Given the description of an element on the screen output the (x, y) to click on. 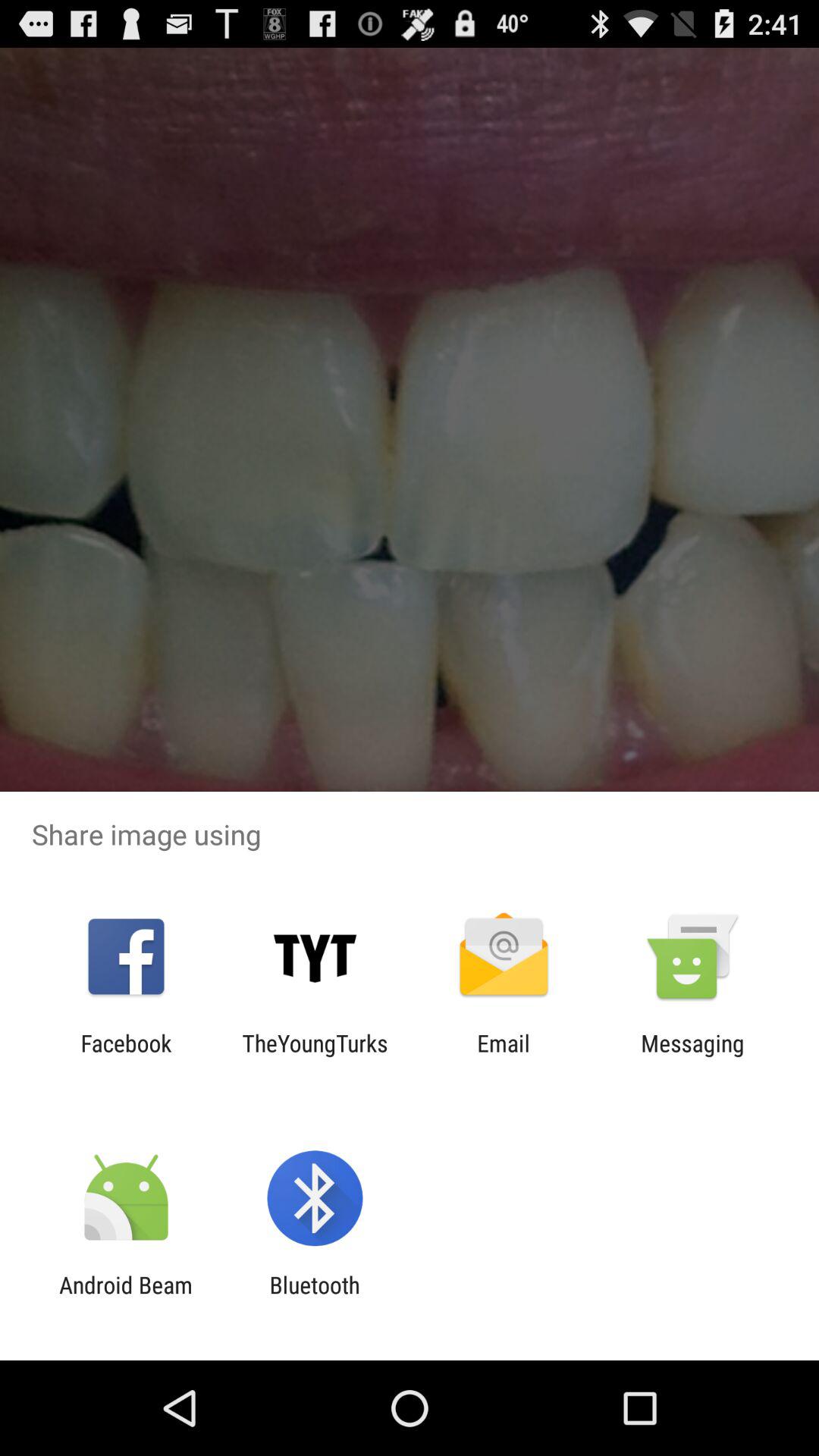
choose icon next to the theyoungturks item (503, 1056)
